Given the description of an element on the screen output the (x, y) to click on. 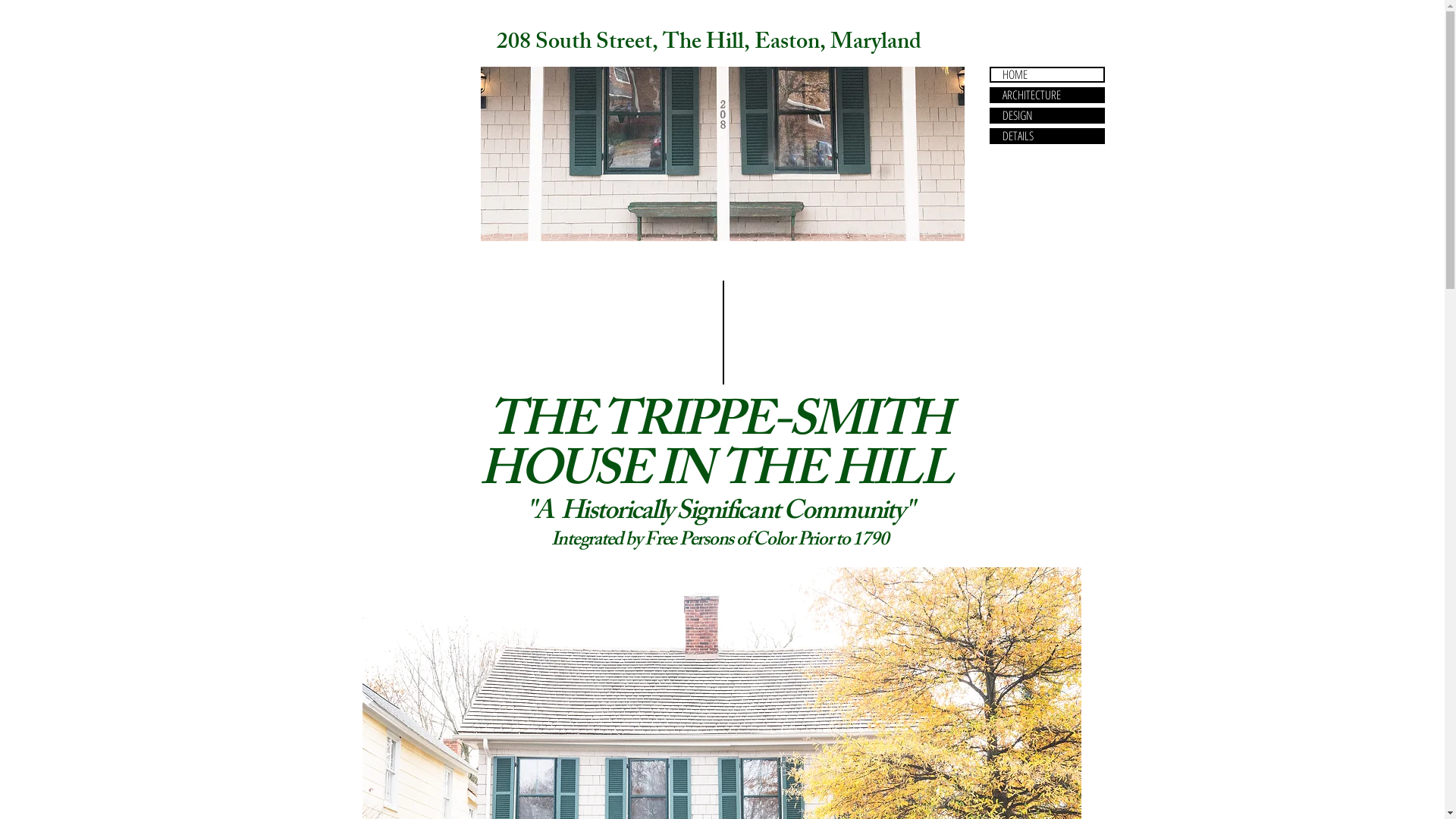
HOME Element type: text (1046, 74)
DESIGN Element type: text (1046, 115)
ARCHITECTURE Element type: text (1046, 94)
208 South Street, The Hill, Easton, Maryland Element type: text (708, 43)
DETAILS Element type: text (1046, 135)
